Given the description of an element on the screen output the (x, y) to click on. 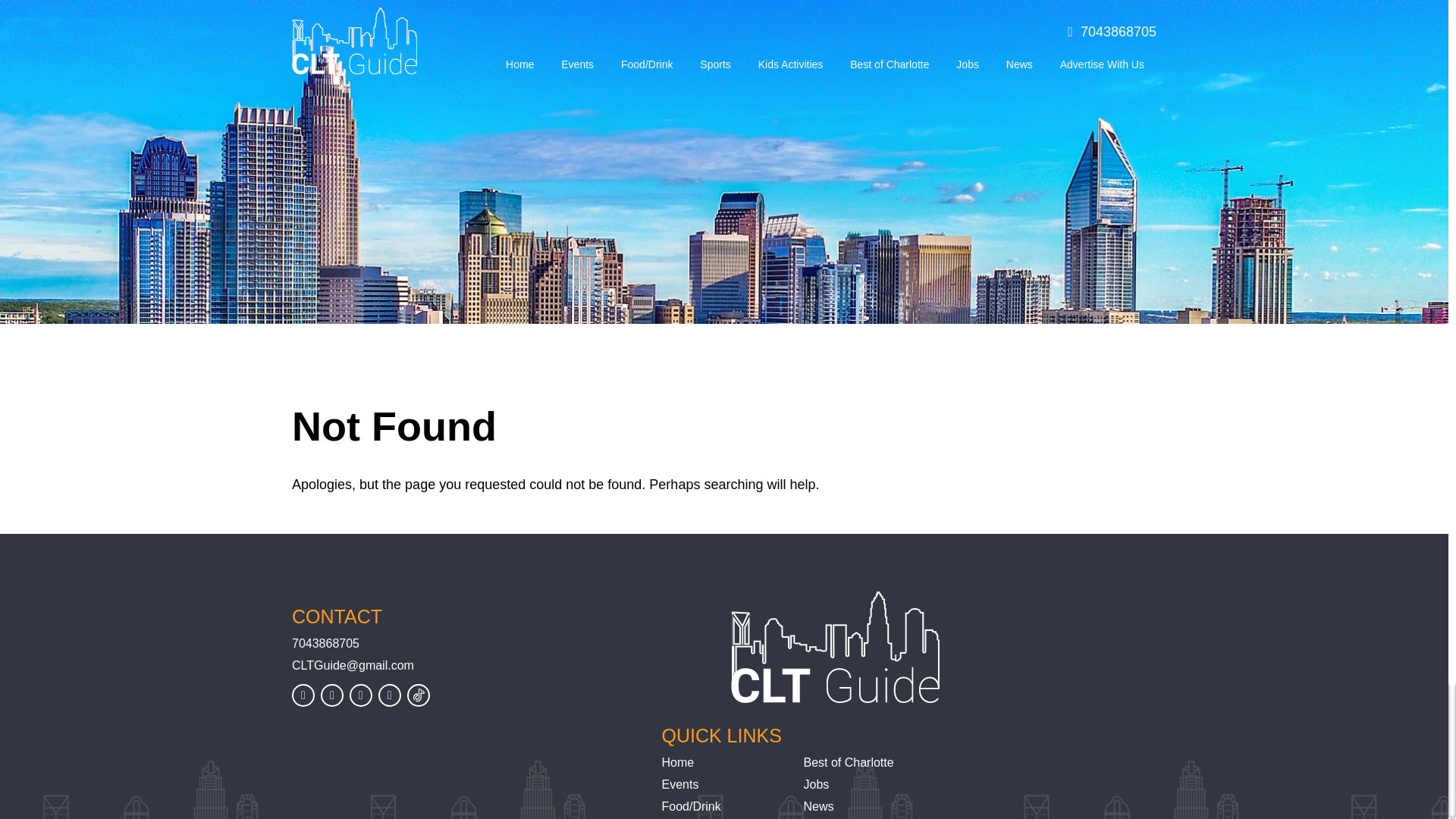
Sports (714, 64)
Best of Charlotte (848, 762)
Jobs (967, 64)
Home (677, 762)
Kids Activities (790, 64)
Events (679, 784)
7043868705 (1111, 31)
Events (576, 64)
Advertise With Us (1102, 64)
7043868705 (465, 643)
